Given the description of an element on the screen output the (x, y) to click on. 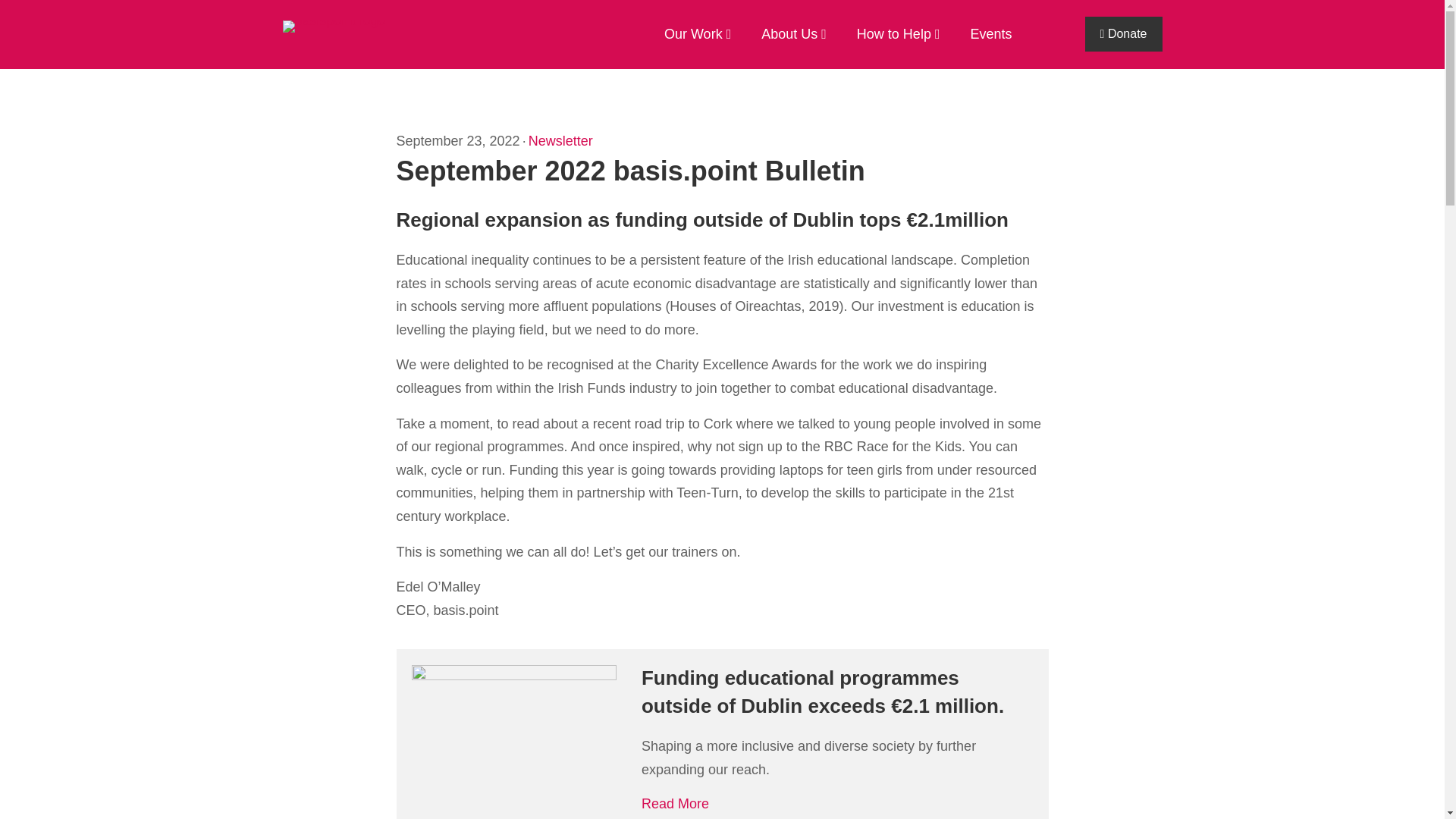
How to Help (890, 34)
About Us (786, 34)
basispoint logo (333, 26)
Events (983, 34)
Our Work (690, 34)
